Given the description of an element on the screen output the (x, y) to click on. 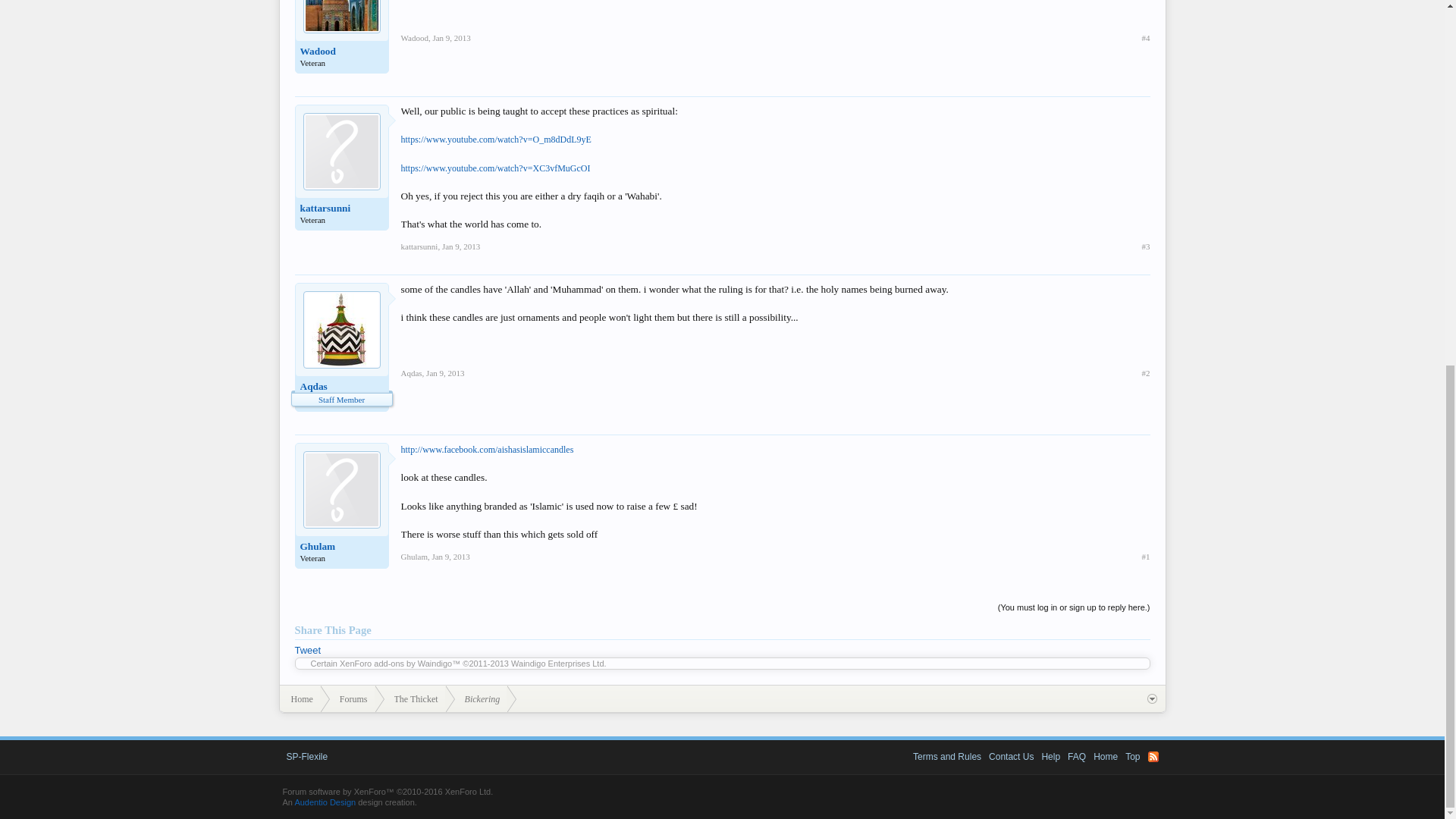
Permalink (451, 37)
Permalink (449, 556)
Permalink (461, 245)
Permalink (445, 372)
